Given the description of an element on the screen output the (x, y) to click on. 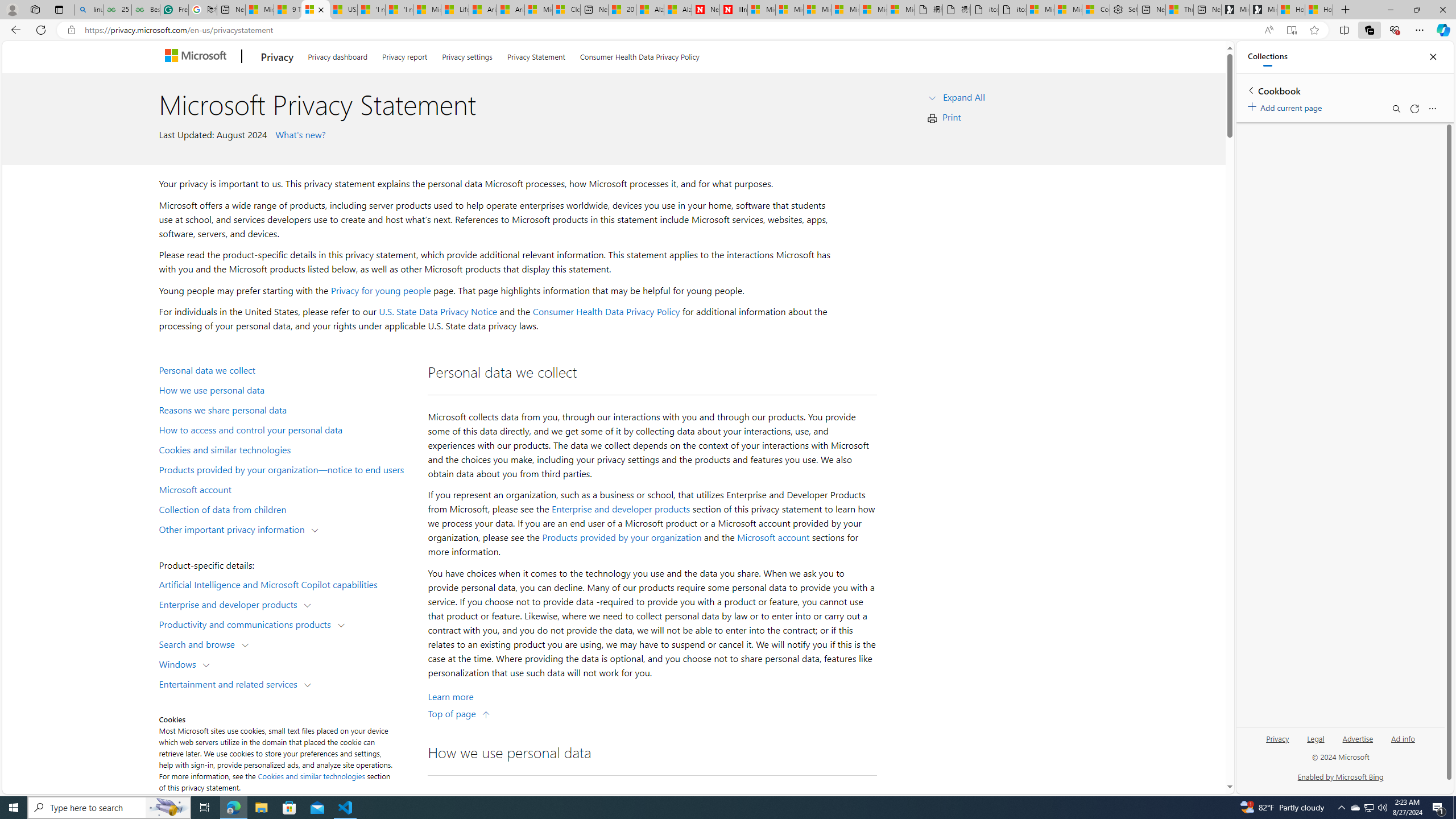
Privacy report (404, 54)
Top of page (459, 713)
Privacy Statement (535, 54)
Cloud Computing Services | Microsoft Azure (566, 9)
Consumer Health Data Privacy Policy (1096, 9)
Learn More about Personal data we collect (450, 696)
Privacy dashboard (337, 54)
Microsoft account (772, 537)
Expand All (963, 96)
